Given the description of an element on the screen output the (x, y) to click on. 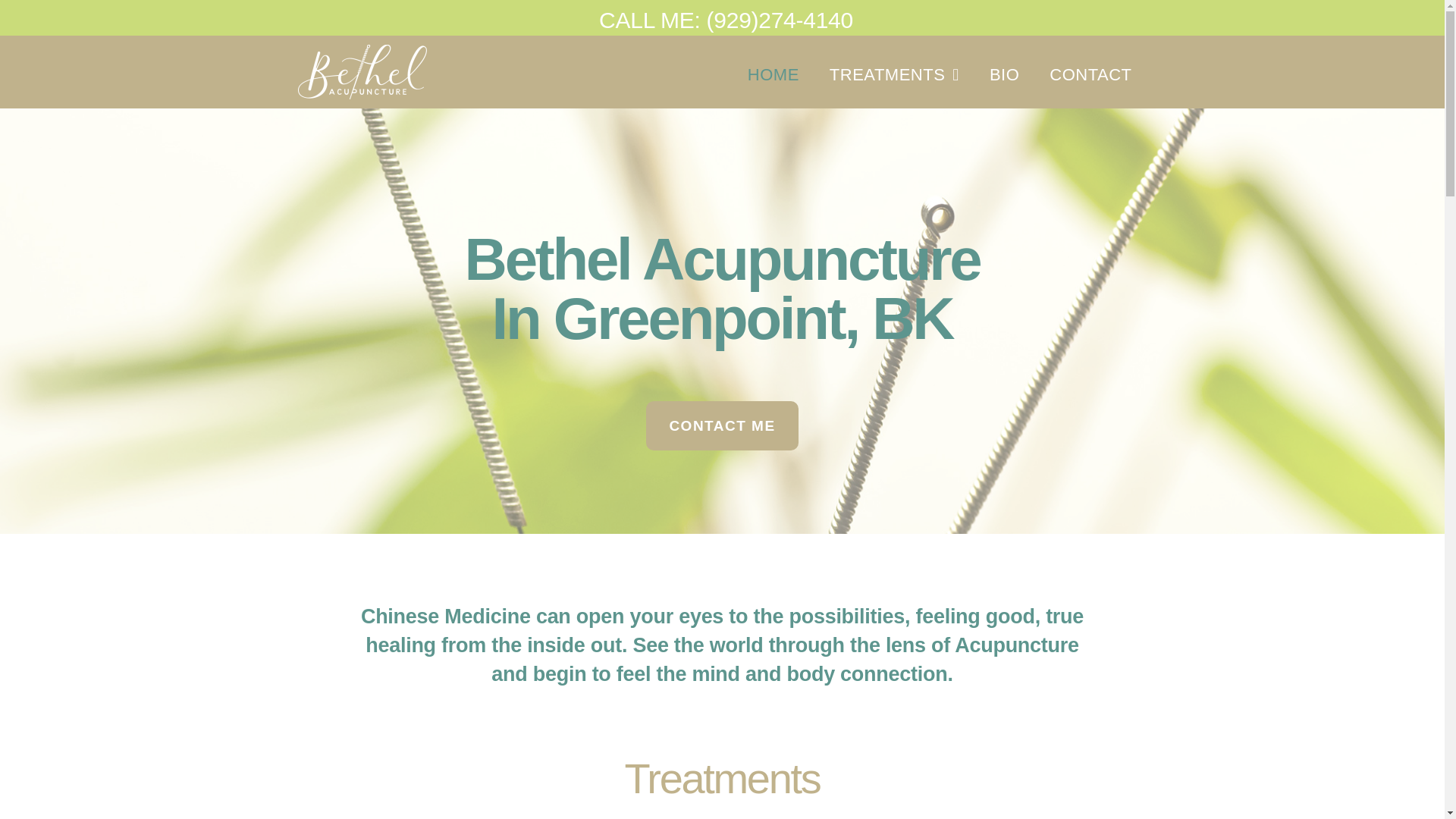
BIO (1003, 74)
TREATMENTS (893, 74)
CONTACT ME (721, 425)
CALL ME:  (652, 19)
CONTACT (1090, 74)
logo white (361, 72)
HOME (772, 74)
